Given the description of an element on the screen output the (x, y) to click on. 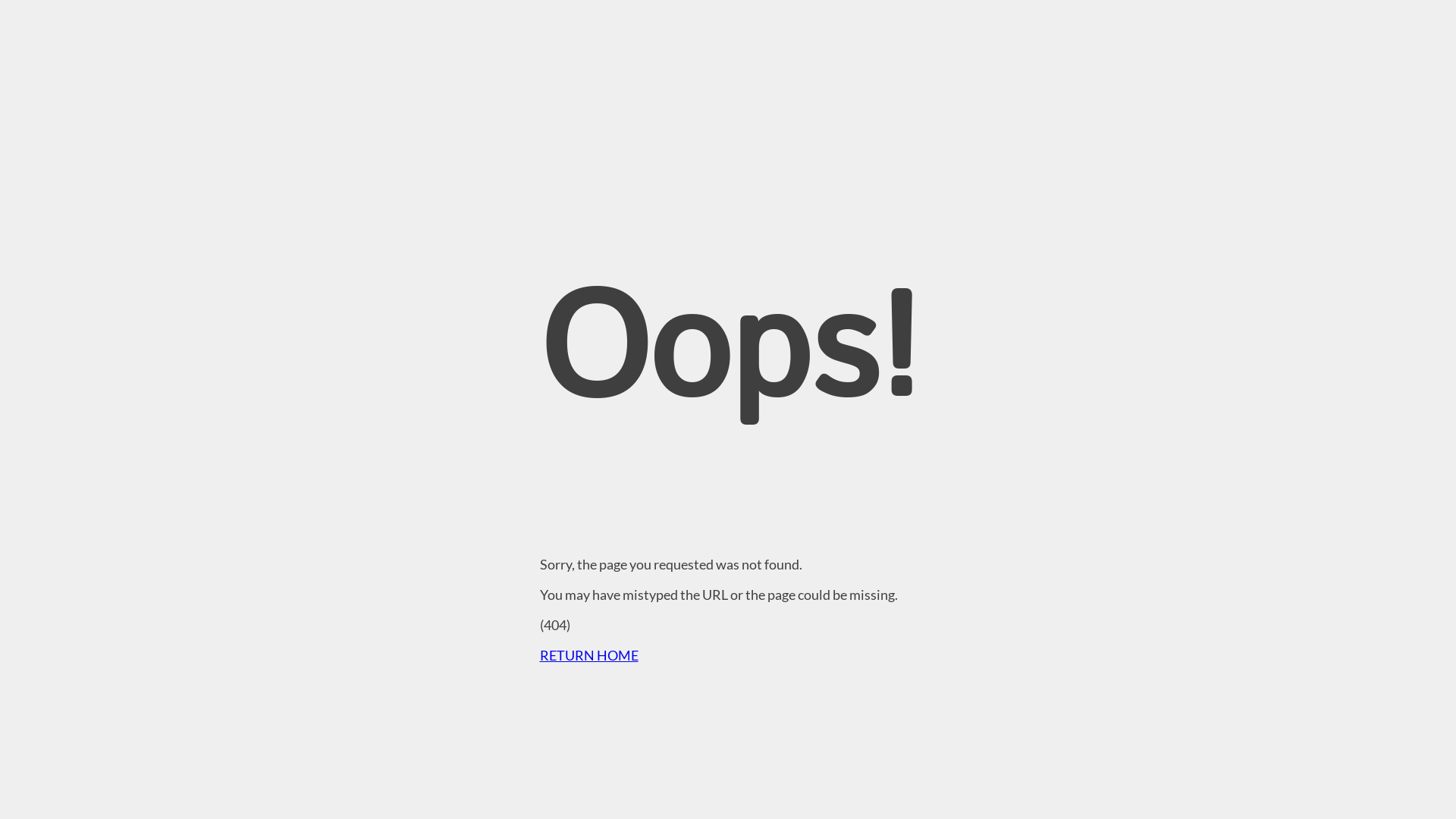
RETURN HOME Element type: text (588, 654)
